Given the description of an element on the screen output the (x, y) to click on. 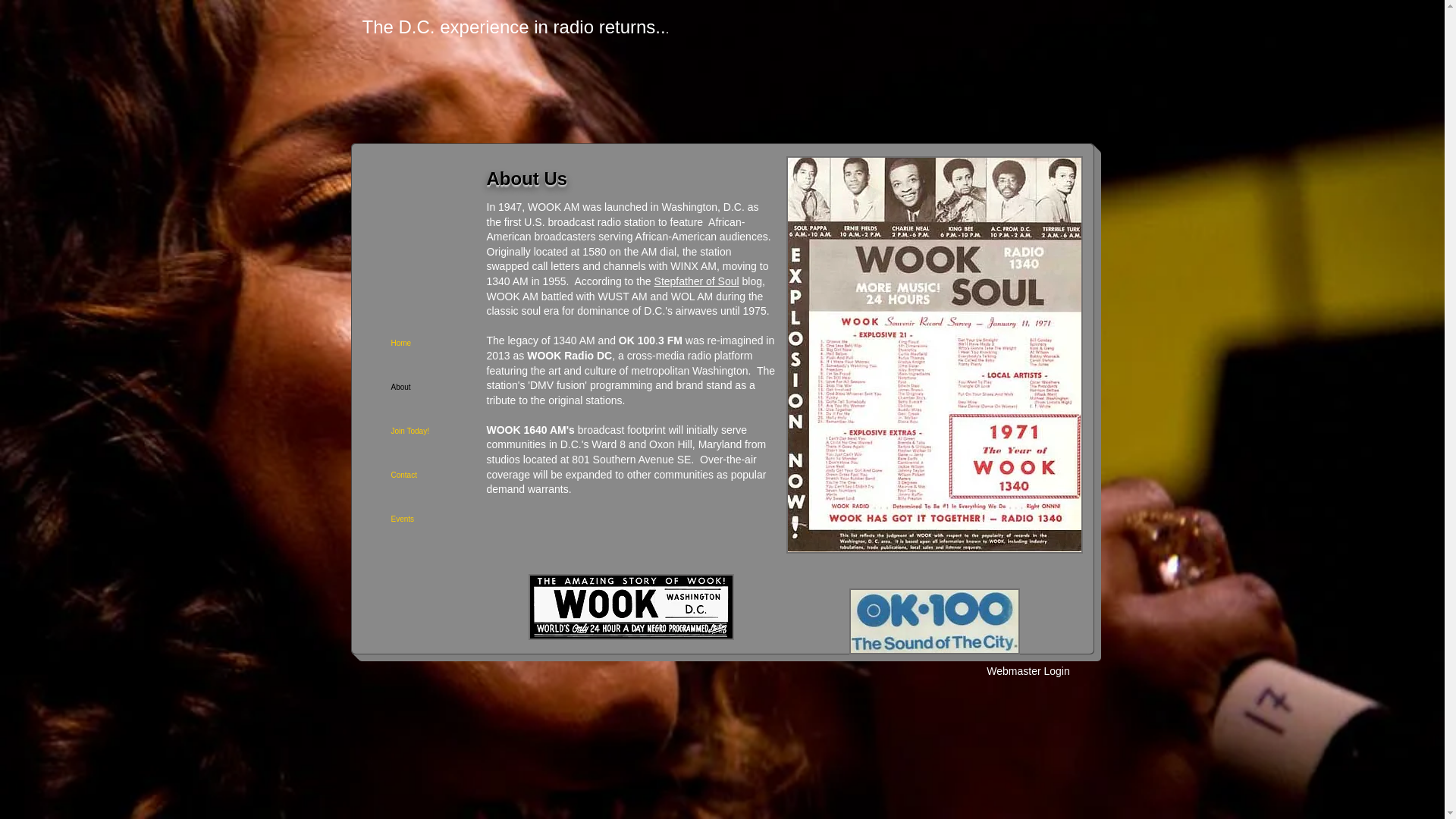
Join Today! (418, 431)
Contact (418, 475)
WOOK 1971 poster.jpg (933, 354)
Webmaster Login (1028, 670)
Stepfather of Soul (696, 281)
Home (418, 343)
About (418, 387)
Events (418, 519)
